Given the description of an element on the screen output the (x, y) to click on. 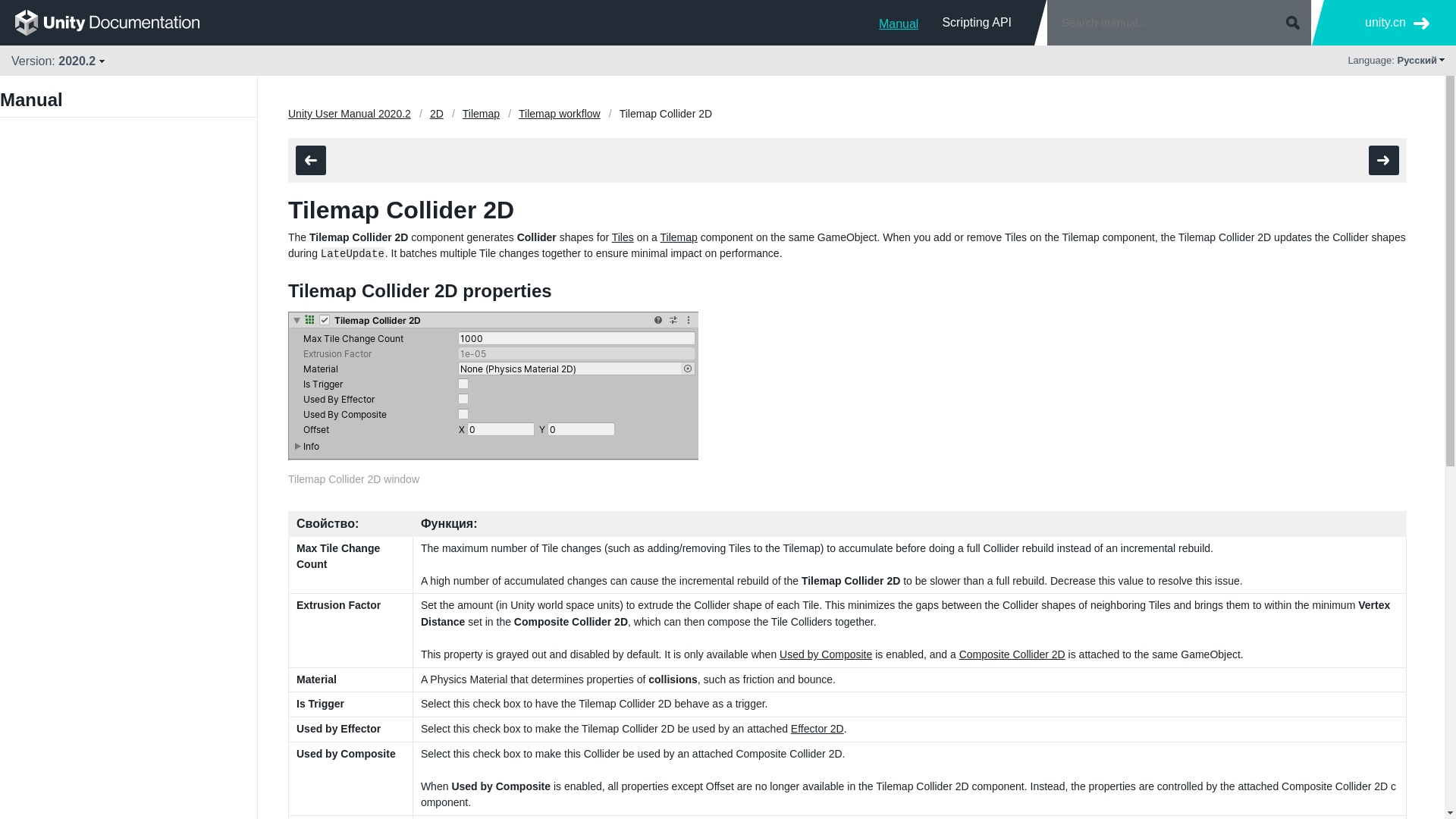
Scripting API (976, 22)
unity.cn (1397, 22)
Manual (898, 22)
